Given the description of an element on the screen output the (x, y) to click on. 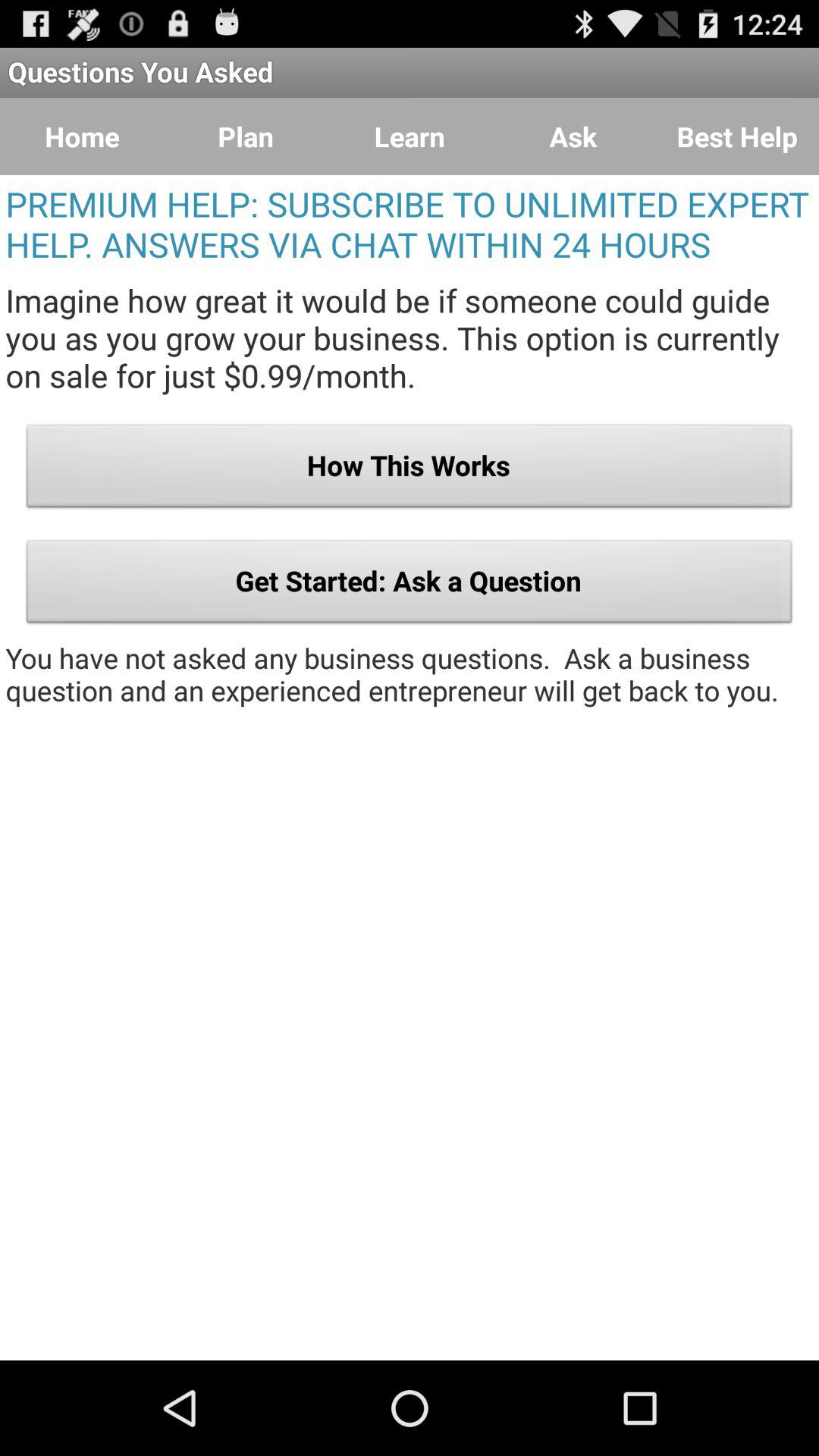
launch item above the premium help subscribe icon (737, 136)
